Given the description of an element on the screen output the (x, y) to click on. 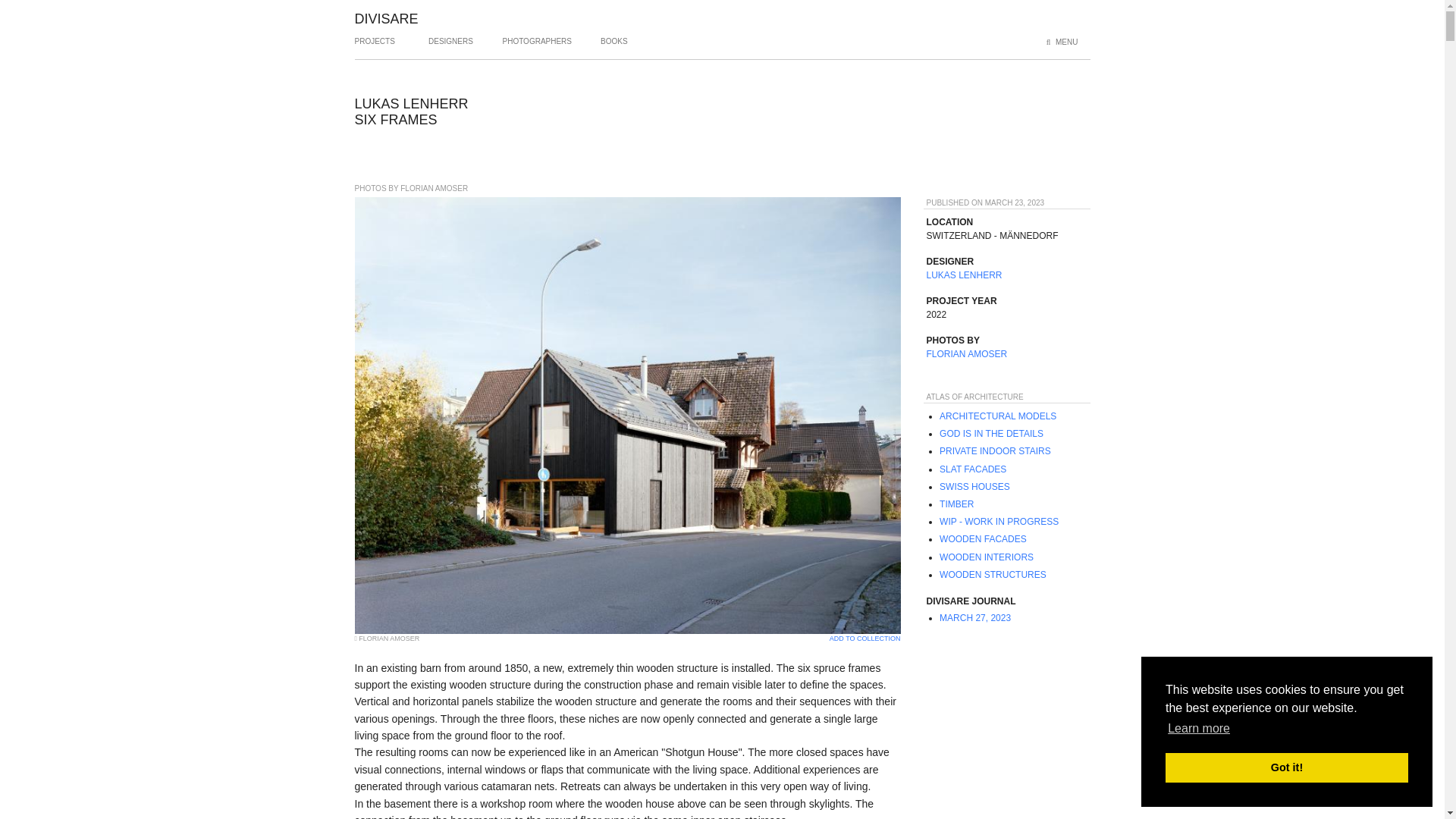
DIVISARE (387, 18)
Learn more (1198, 728)
PROJECTS (374, 46)
Got it! (1286, 767)
